Given the description of an element on the screen output the (x, y) to click on. 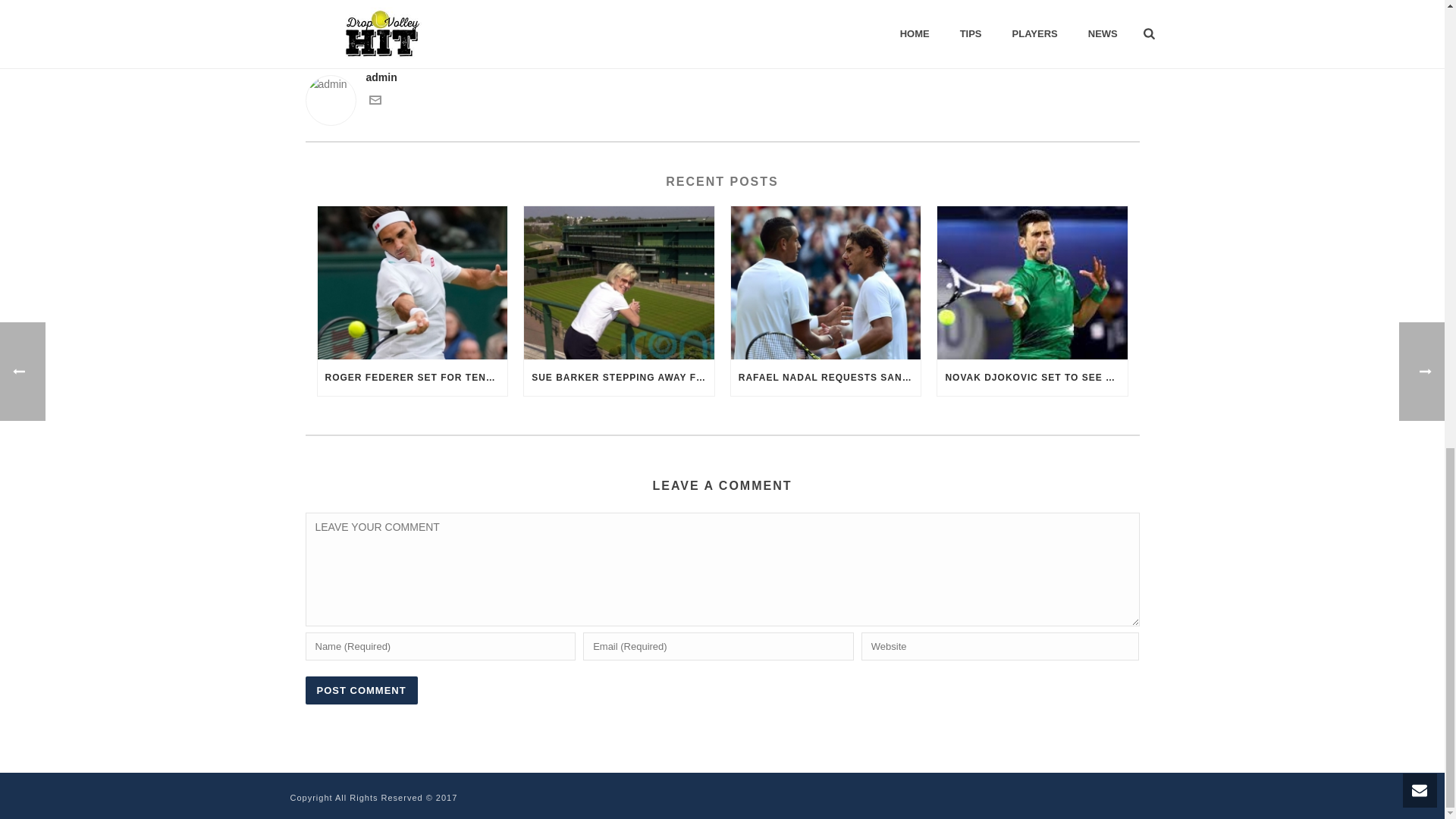
Get in touch with me via email (374, 102)
ROGER FEDERER SET FOR TENNIS RETIREMENT IN SEPTEMBER (411, 377)
NOVAK DJOKOVIC SET TO SEE NO 1 REIGN COME TO AN END (1031, 377)
Novak Djokovic set to see No 1 reign come to an end (1031, 282)
admin (721, 77)
POST COMMENT (360, 690)
Roger Federer set for tennis retirement in September (411, 282)
